Given the description of an element on the screen output the (x, y) to click on. 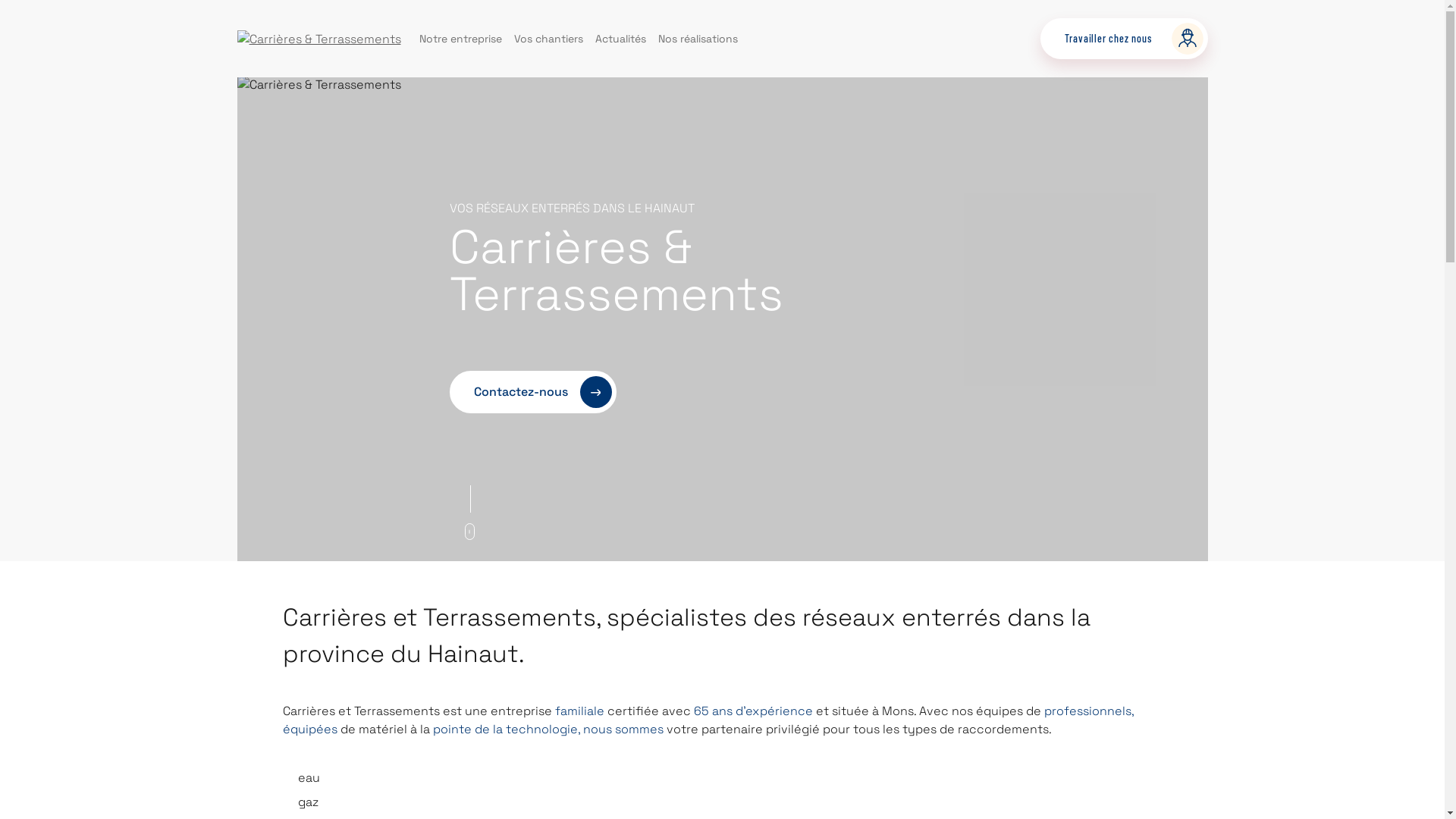
Contactez-nous Element type: text (532, 391)
Vos chantiers Element type: text (548, 38)
Notre entreprise Element type: text (459, 38)
Travailler chez nous Element type: text (1124, 38)
